Given the description of an element on the screen output the (x, y) to click on. 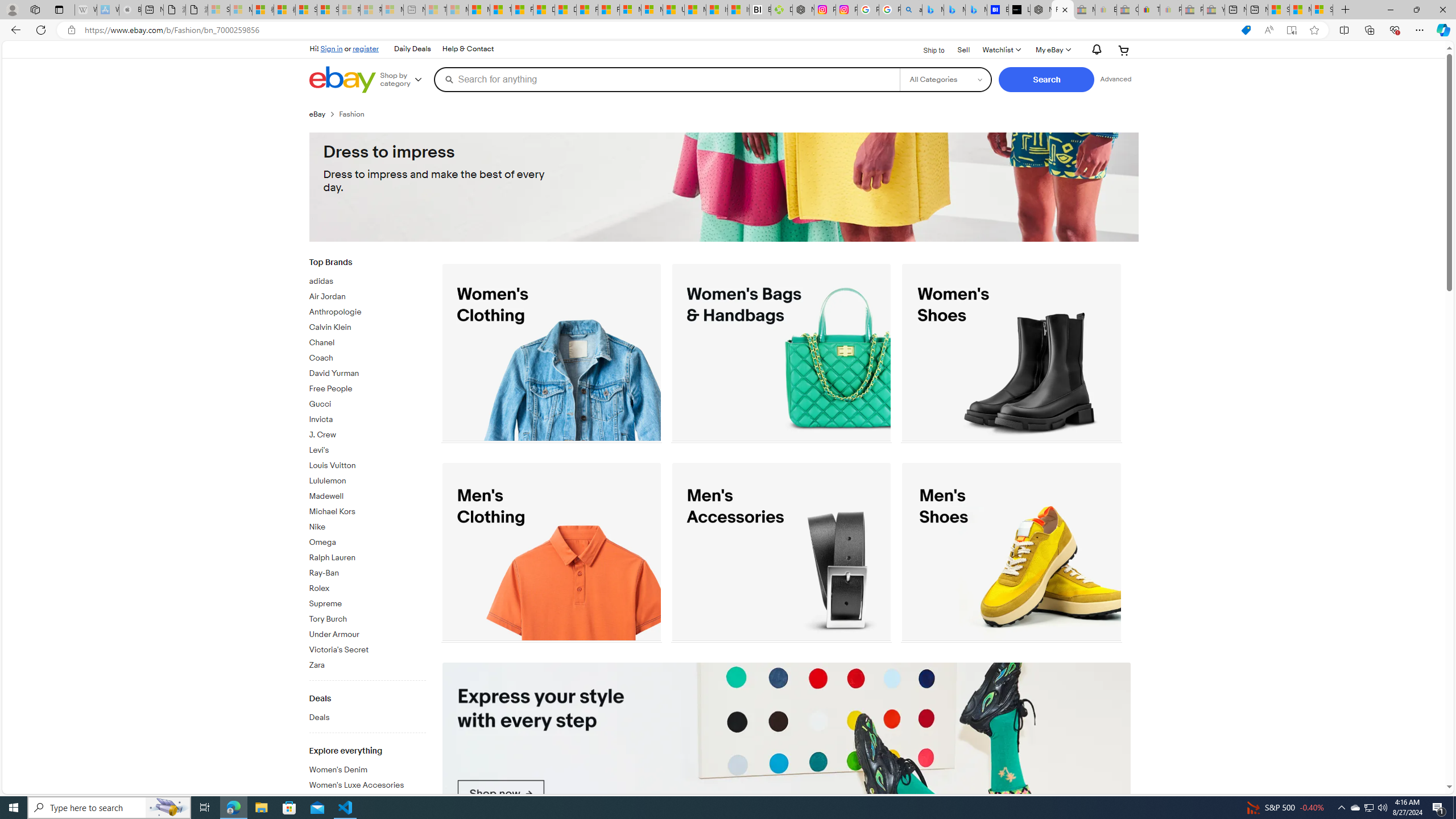
Anthropologie (367, 309)
Coach (367, 355)
Yard, Garden & Outdoor Living - Sleeping (1214, 9)
eBay Home (341, 79)
Omega (367, 542)
Daily Deals (412, 49)
Gucci (367, 404)
My eBayExpand My eBay (1052, 49)
Select a category for search (945, 78)
